Given the description of an element on the screen output the (x, y) to click on. 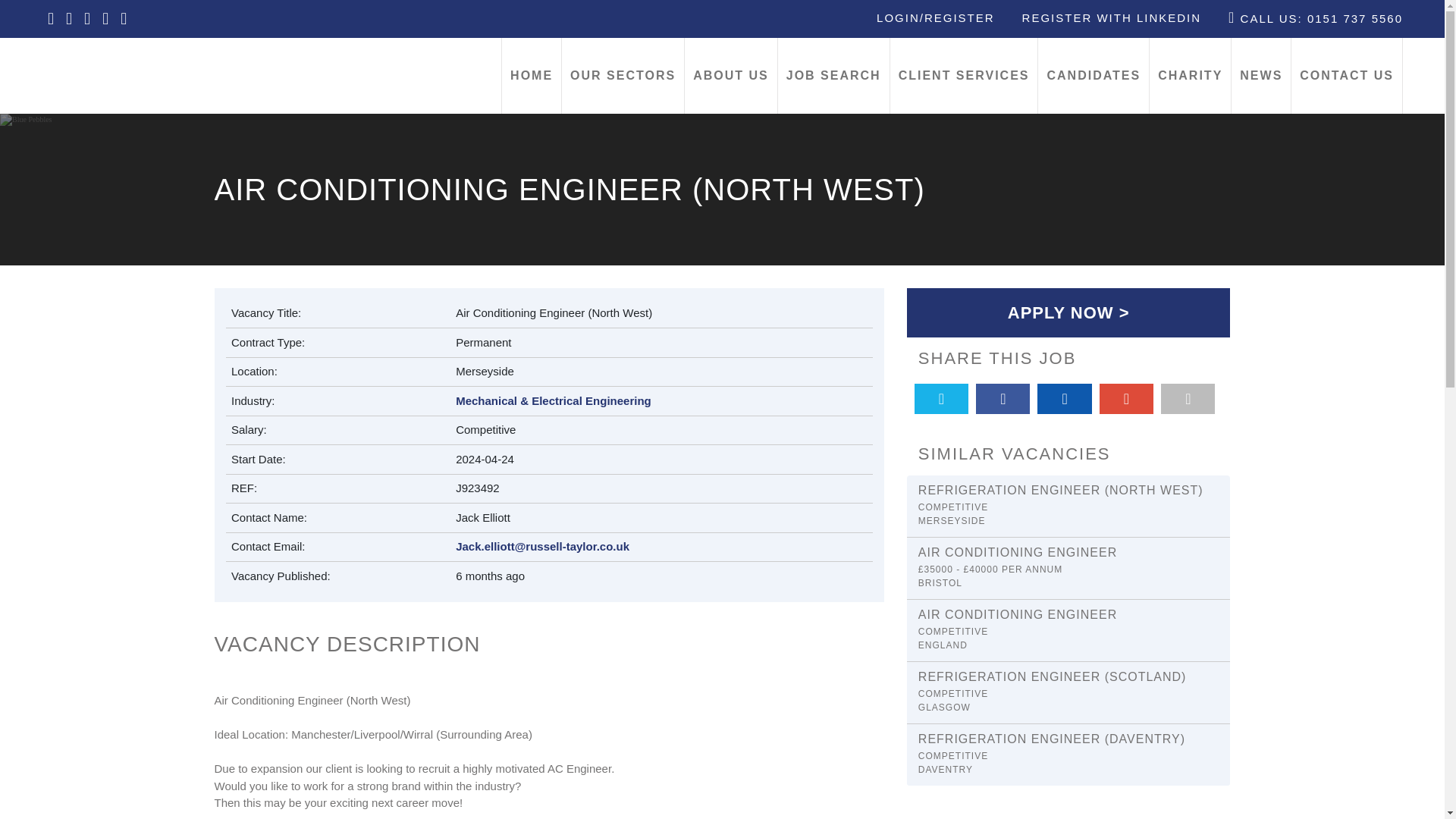
Twitter (941, 399)
Russell Taylor (117, 74)
Email (1187, 399)
CANDIDATES (1093, 75)
REGISTER WITH LINKEDIN (1112, 18)
CLIENT SERVICES (963, 75)
LinkedIn (1063, 399)
ABOUT US (730, 75)
OUR SECTORS (623, 75)
Go to the Homepage (117, 74)
